Given the description of an element on the screen output the (x, y) to click on. 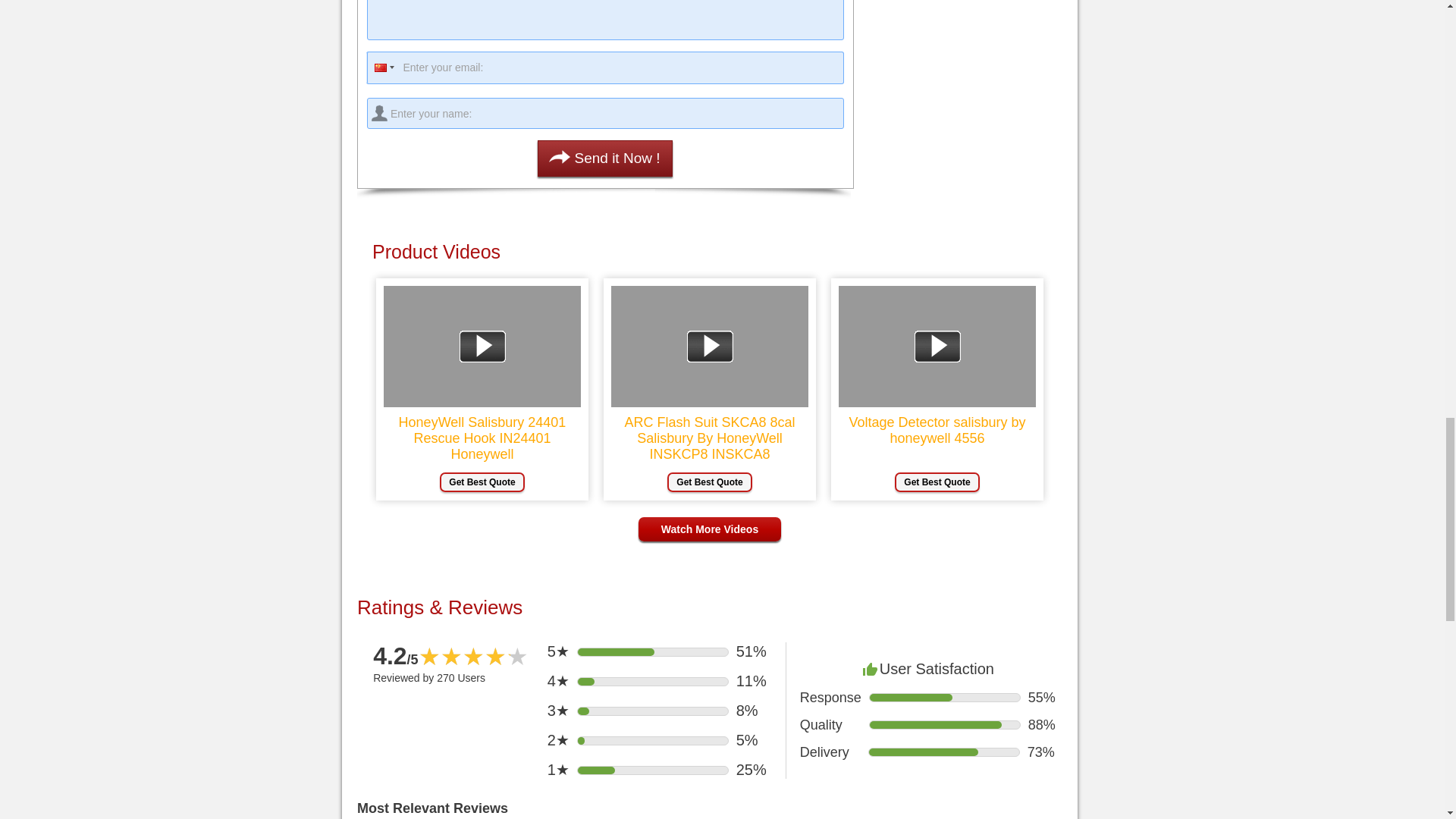
Send it Now ! (604, 158)
Enter your name: (605, 112)
Product Videos (709, 251)
4.2 out of 5 Votes (395, 655)
Enter your email: (605, 67)
Send it Now ! (604, 158)
